Given the description of an element on the screen output the (x, y) to click on. 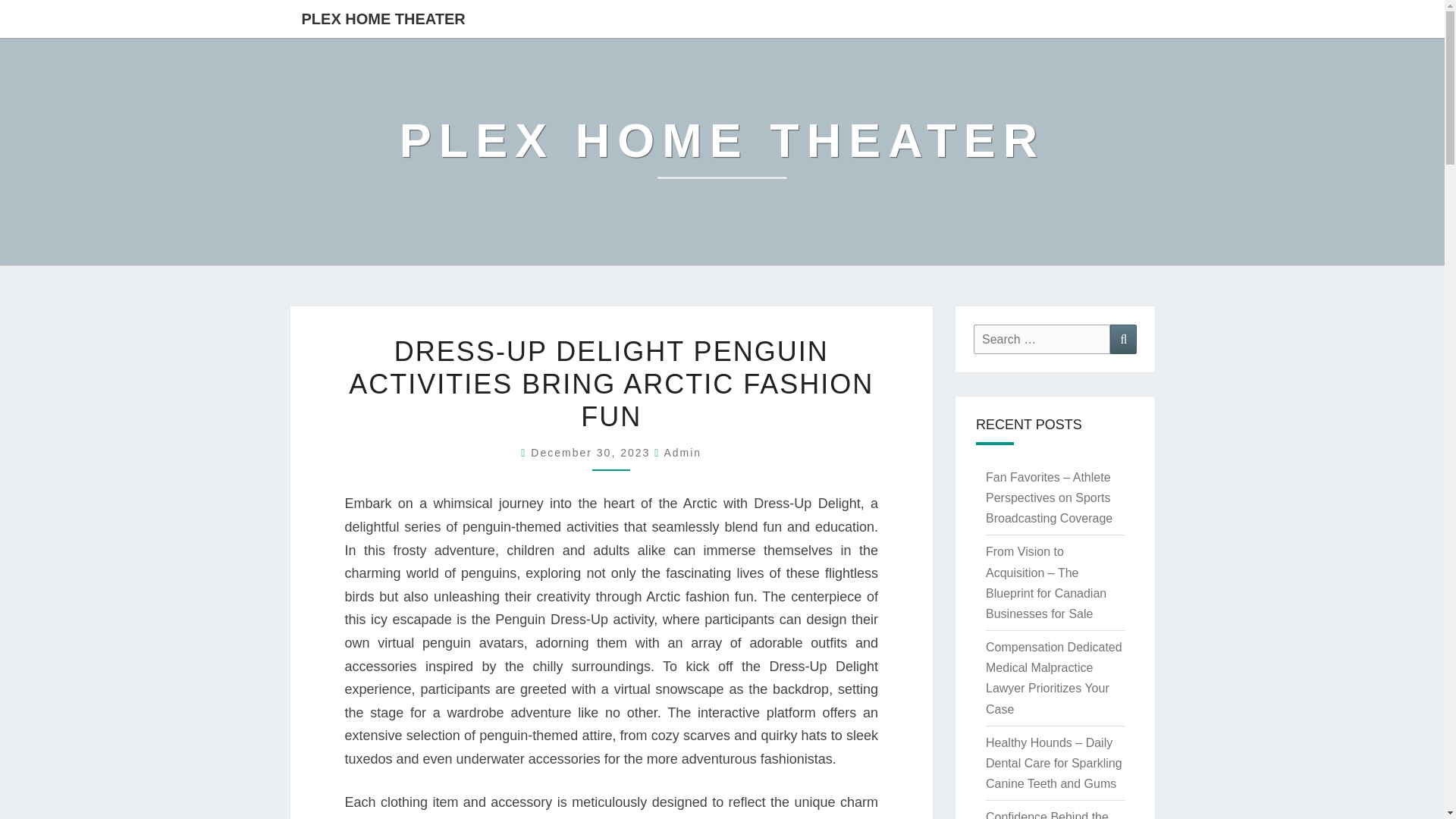
Plex home theater (721, 151)
View all posts by admin (682, 452)
PLEX HOME THEATER (721, 151)
December 30, 2023 (592, 452)
Search for: (1041, 338)
4:54 am (592, 452)
PLEX HOME THEATER (382, 18)
Search (1123, 338)
Admin (682, 452)
